Given the description of an element on the screen output the (x, y) to click on. 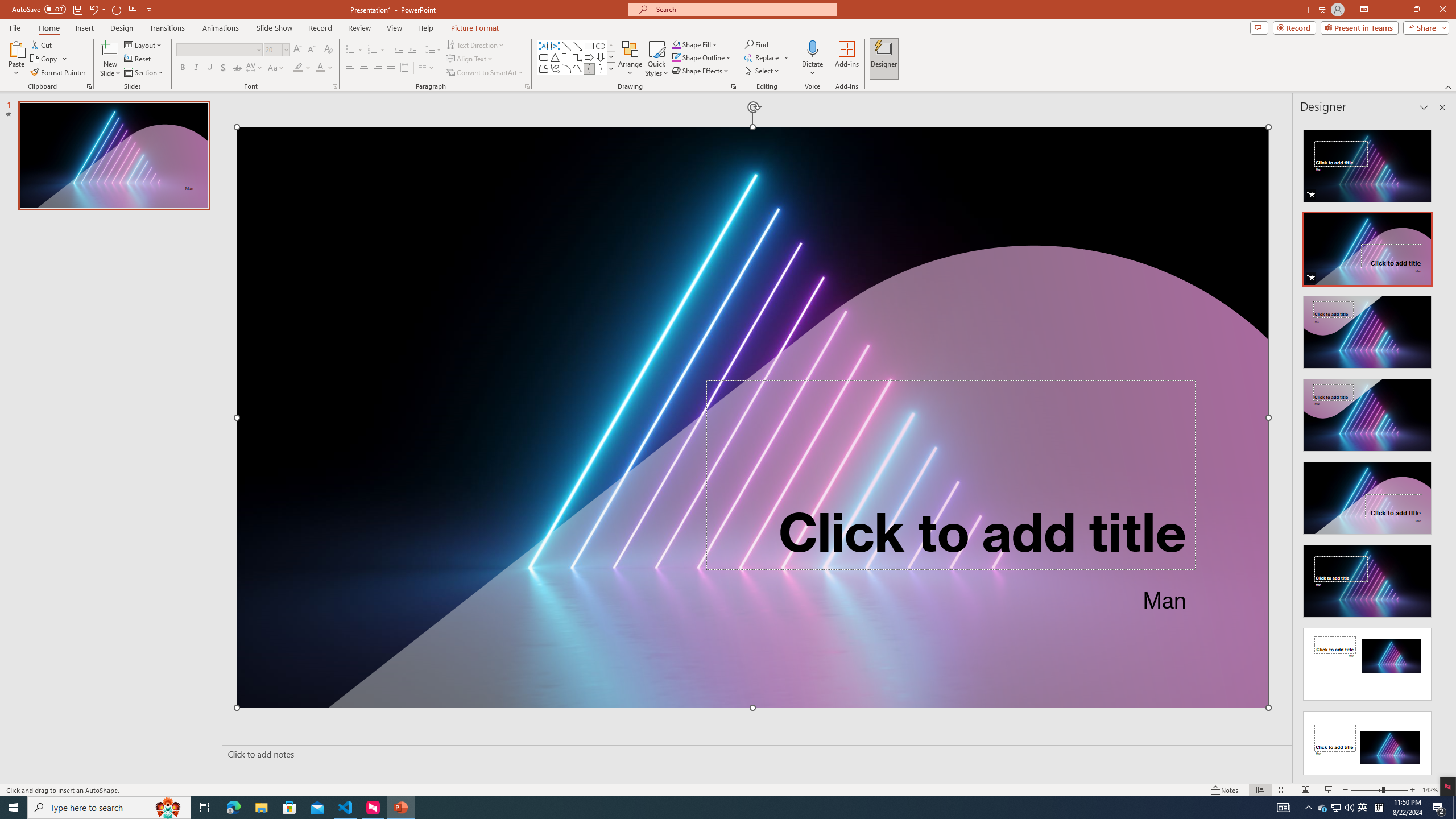
Class: NetUIScrollBar (1441, 447)
Recommended Design: Animation (1366, 162)
